Given the description of an element on the screen output the (x, y) to click on. 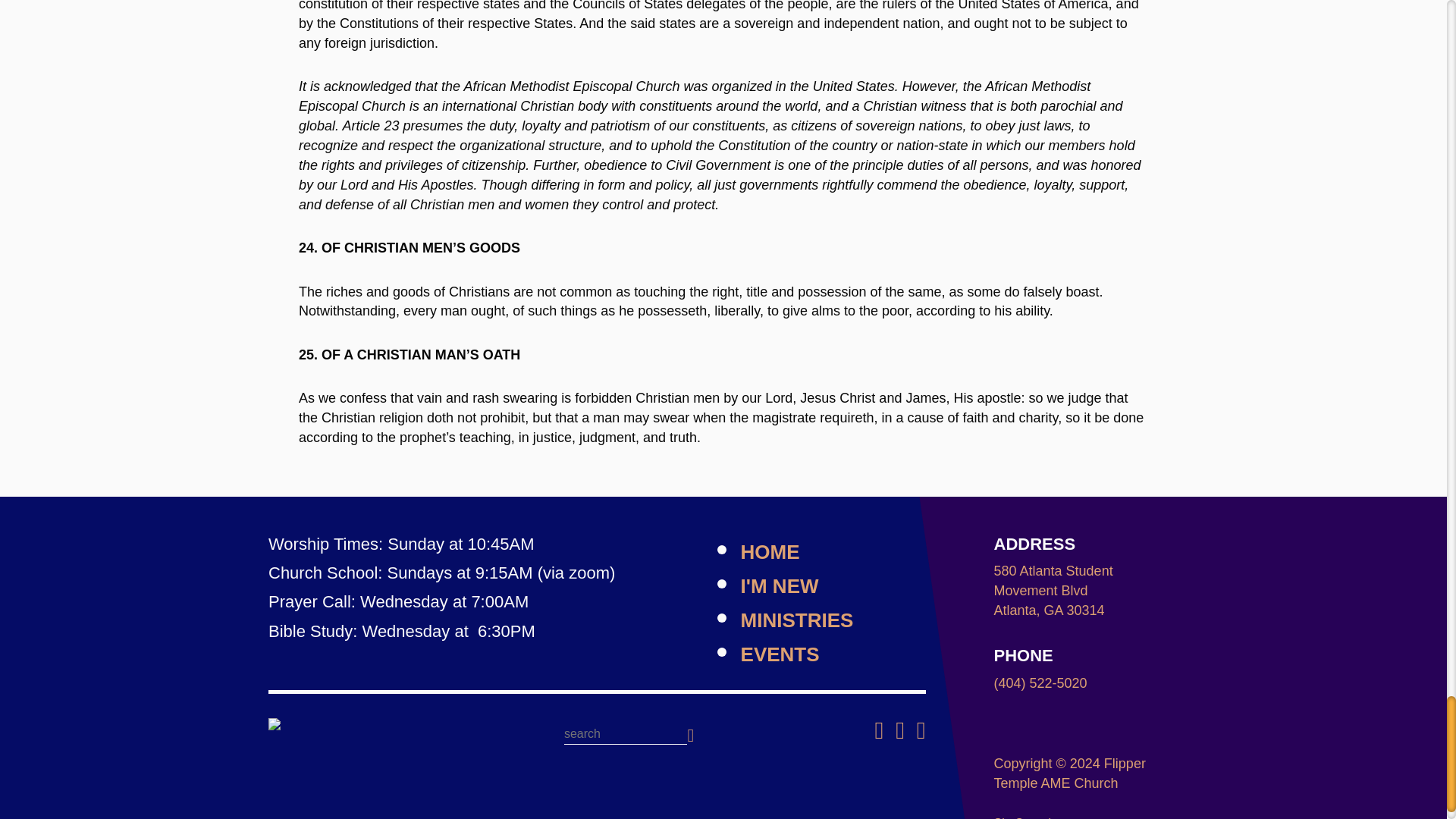
Home (366, 724)
SiteOrganic (1026, 817)
Home (770, 551)
I'm New (779, 585)
Events (780, 653)
Ministries (797, 620)
